Given the description of an element on the screen output the (x, y) to click on. 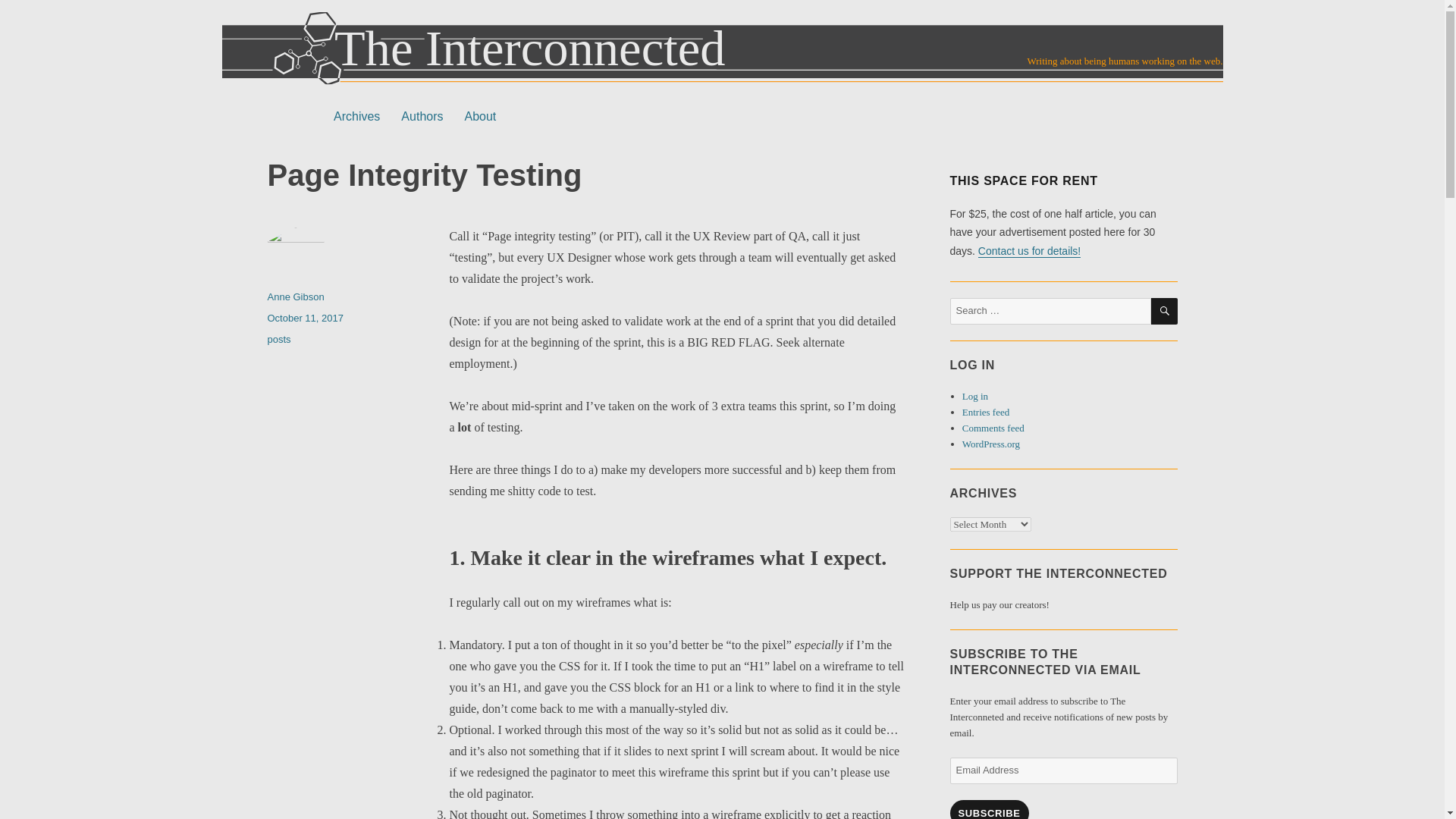
About (479, 116)
Entries feed (985, 411)
posts (277, 338)
Authors (421, 116)
Archives (356, 116)
Contact us for details! (1029, 250)
WordPress.org (991, 443)
Comments feed (993, 428)
October 11, 2017 (304, 317)
Log in (975, 396)
SEARCH (1164, 311)
SUBSCRIBE (988, 809)
Anne Gibson (294, 296)
